Given the description of an element on the screen output the (x, y) to click on. 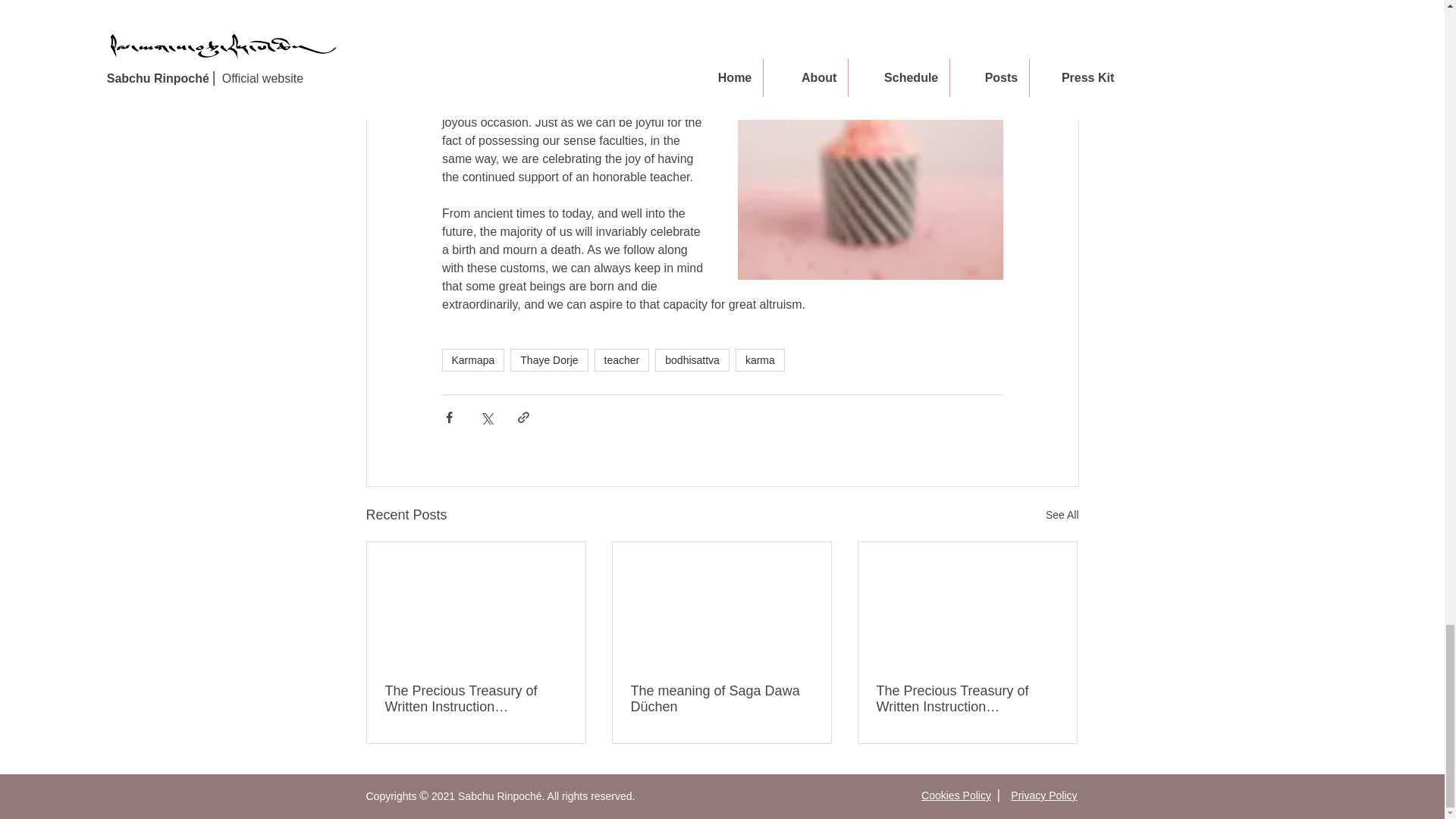
teacher (621, 359)
Karmapa (472, 359)
Cookies Policy (956, 795)
karma (759, 359)
Privacy Policy (1043, 795)
Thaye Dorje (549, 359)
See All (1061, 515)
bodhisattva (692, 359)
